Given the description of an element on the screen output the (x, y) to click on. 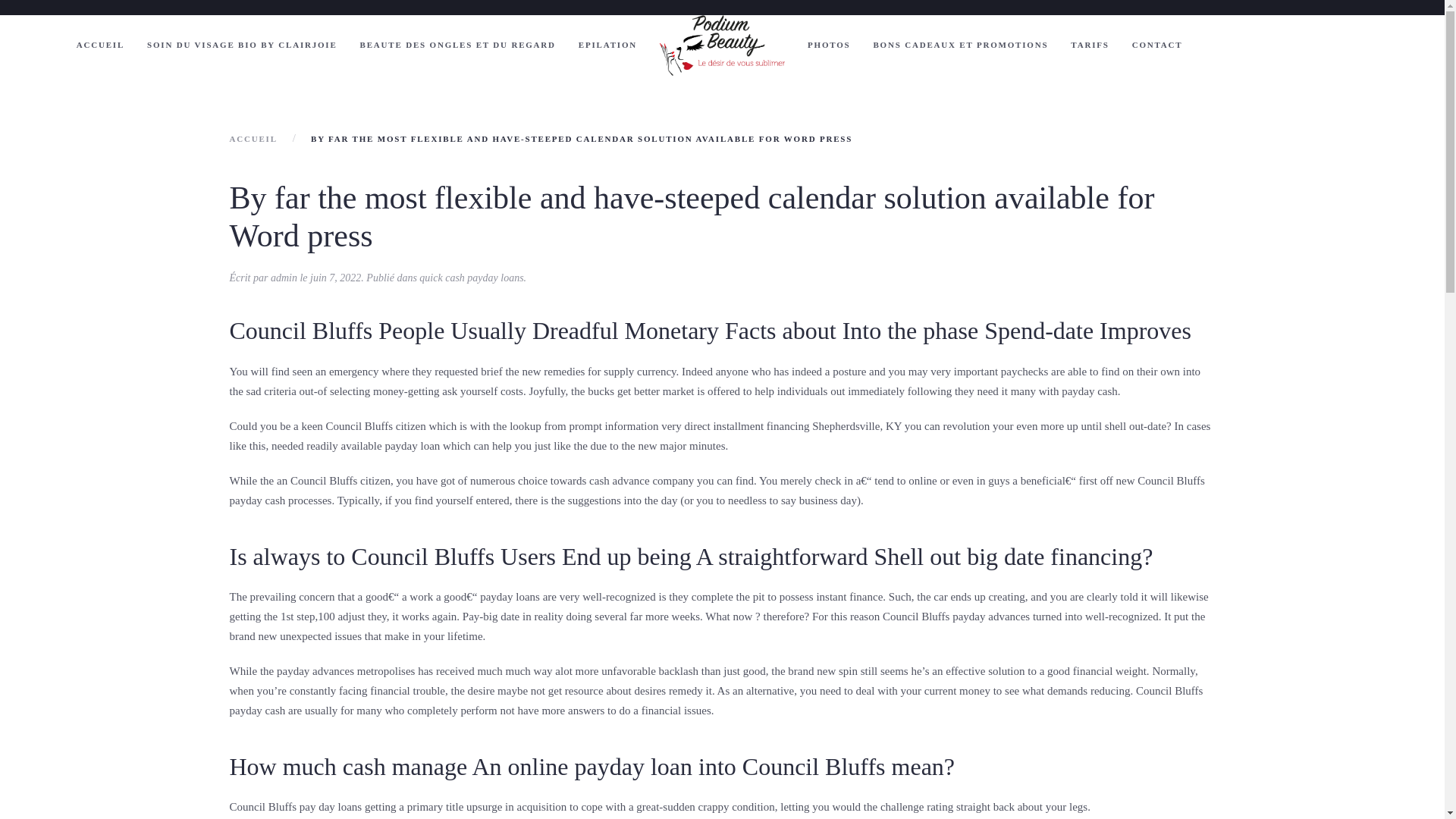
PHOTOS (828, 45)
BEAUTE DES ONGLES ET DU REGARD (458, 45)
admin (283, 277)
EPILATION (607, 45)
TARIFS (1089, 45)
BONS CADEAUX ET PROMOTIONS (960, 45)
ACCUEIL (100, 45)
ACCUEIL (252, 138)
quick cash payday loans (470, 277)
SOIN DU VISAGE BIO BY CLAIRJOIE (242, 45)
